Given the description of an element on the screen output the (x, y) to click on. 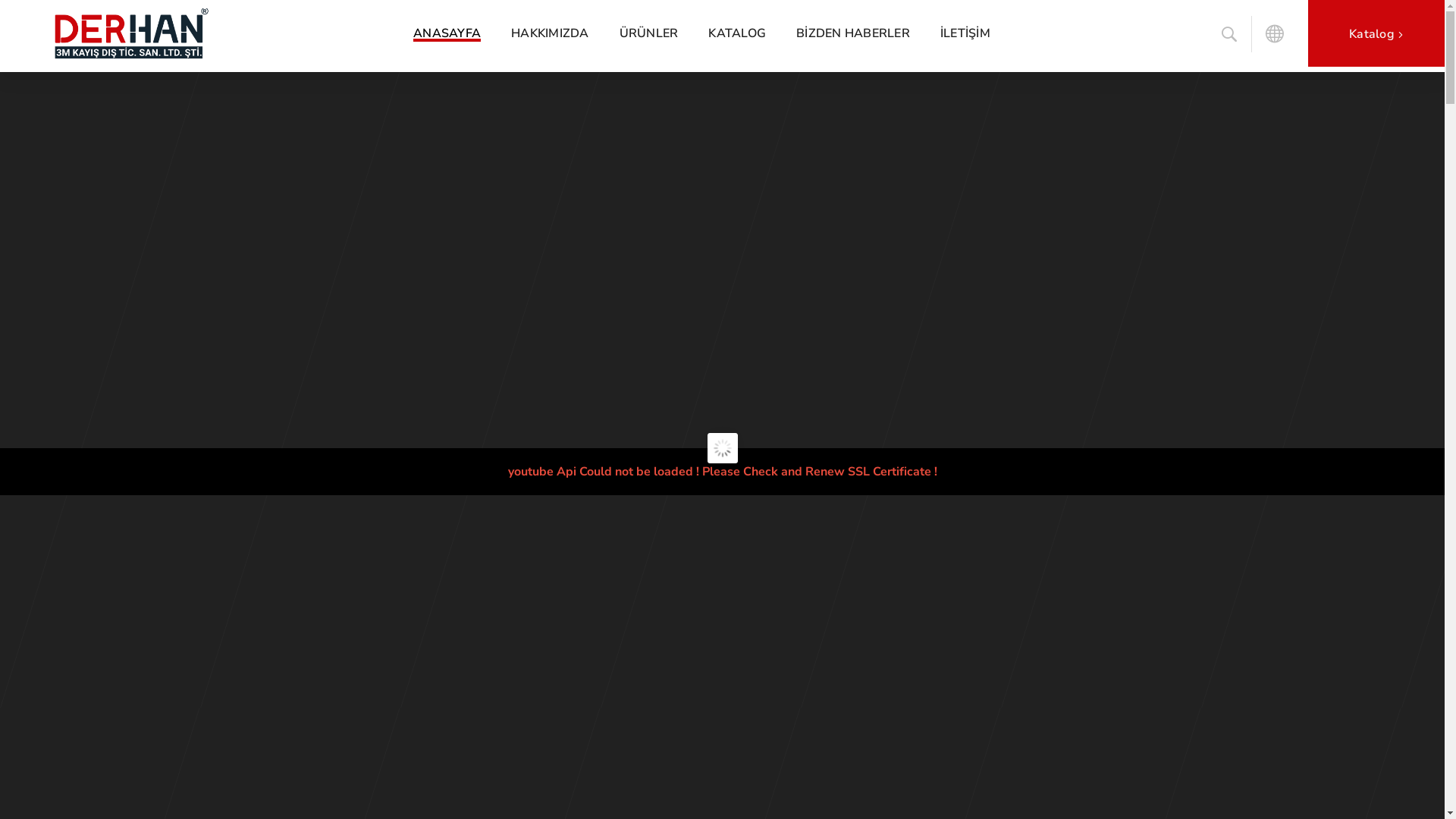
HAKKIMIZDA Element type: text (550, 33)
ANASAYFA Element type: text (446, 33)
Katalog Element type: text (1376, 33)
DERHAN Element type: hover (198, 33)
KATALOG Element type: text (736, 33)
